Given the description of an element on the screen output the (x, y) to click on. 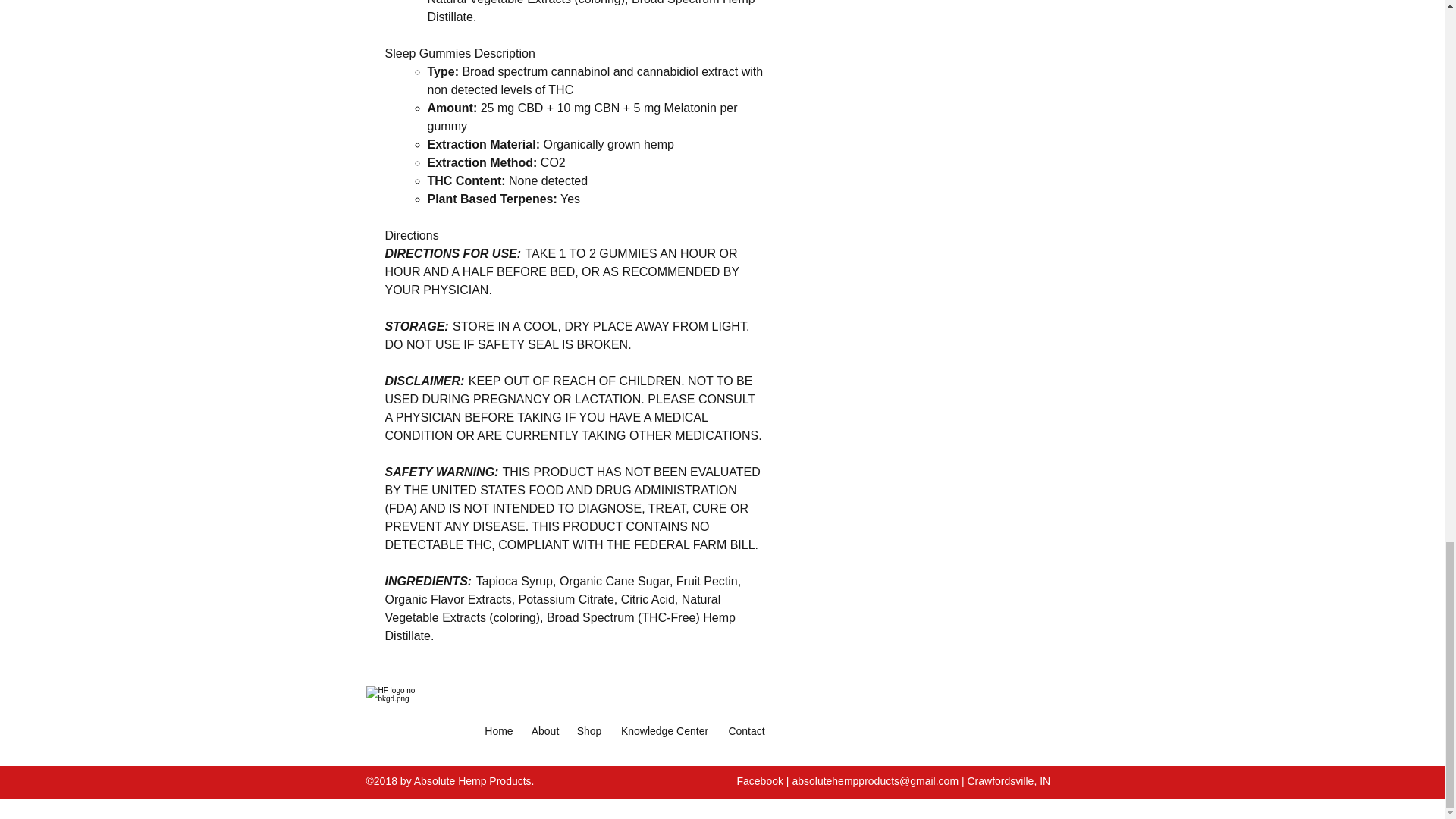
Contact (746, 730)
Facebook (759, 780)
About (544, 730)
Home (499, 730)
Knowledge Center (664, 730)
Shop (589, 730)
